Given the description of an element on the screen output the (x, y) to click on. 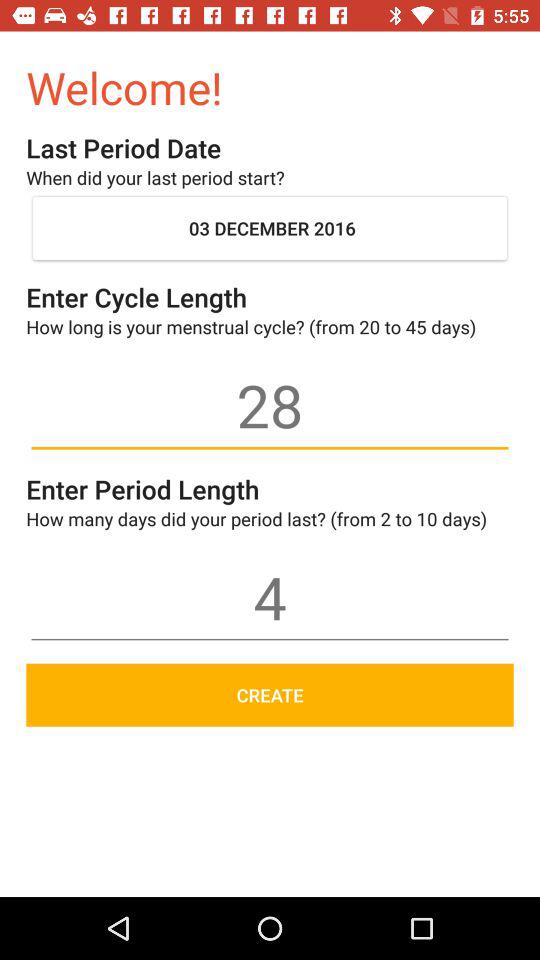
turn on the icon above enter cycle length icon (270, 227)
